Given the description of an element on the screen output the (x, y) to click on. 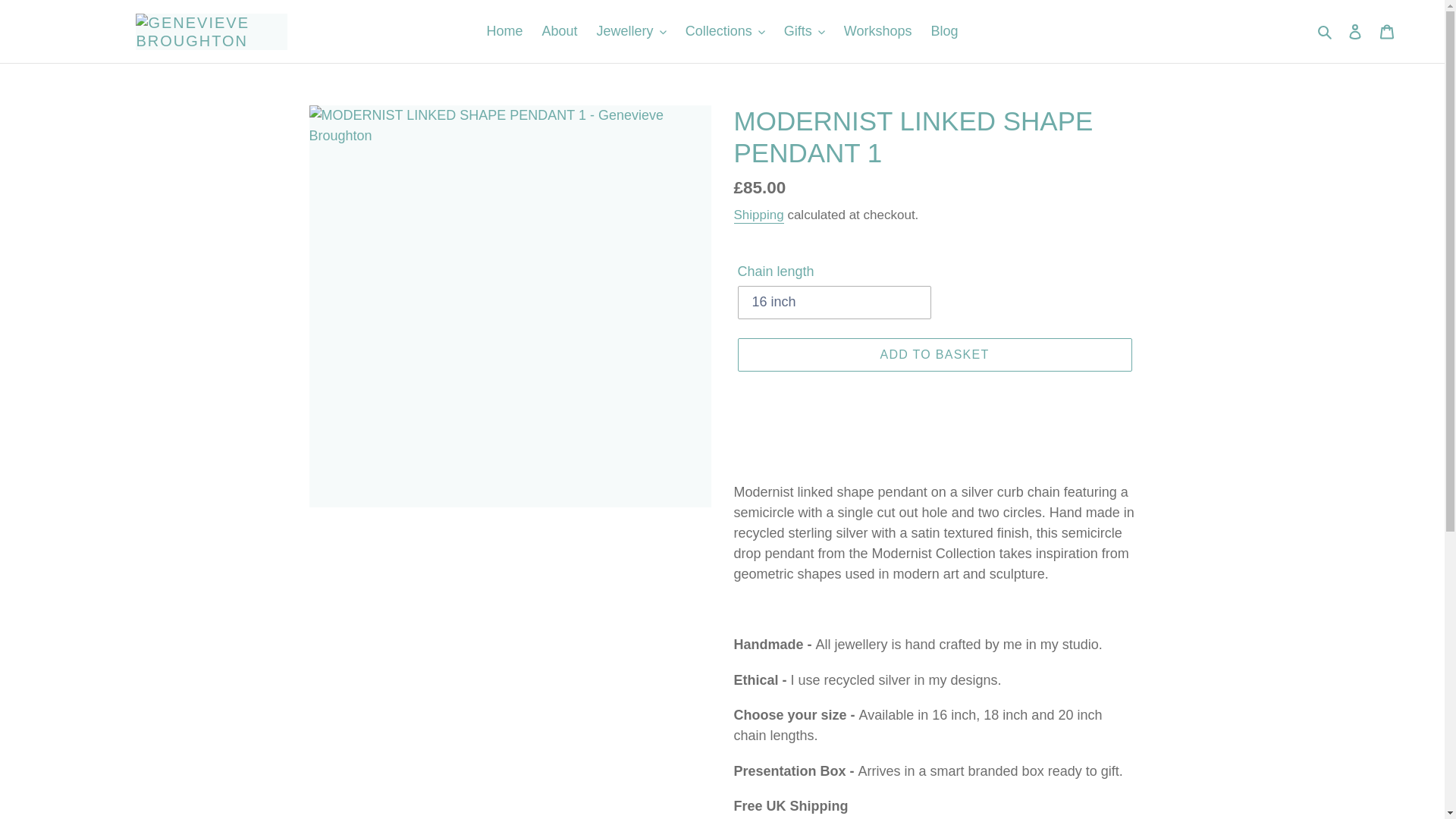
Workshops (877, 31)
Gifts (804, 31)
Collections (725, 31)
Log in (1355, 31)
Home (505, 31)
Basket (1387, 31)
Search (1326, 31)
About (559, 31)
Jewellery (631, 31)
Blog (944, 31)
